Given the description of an element on the screen output the (x, y) to click on. 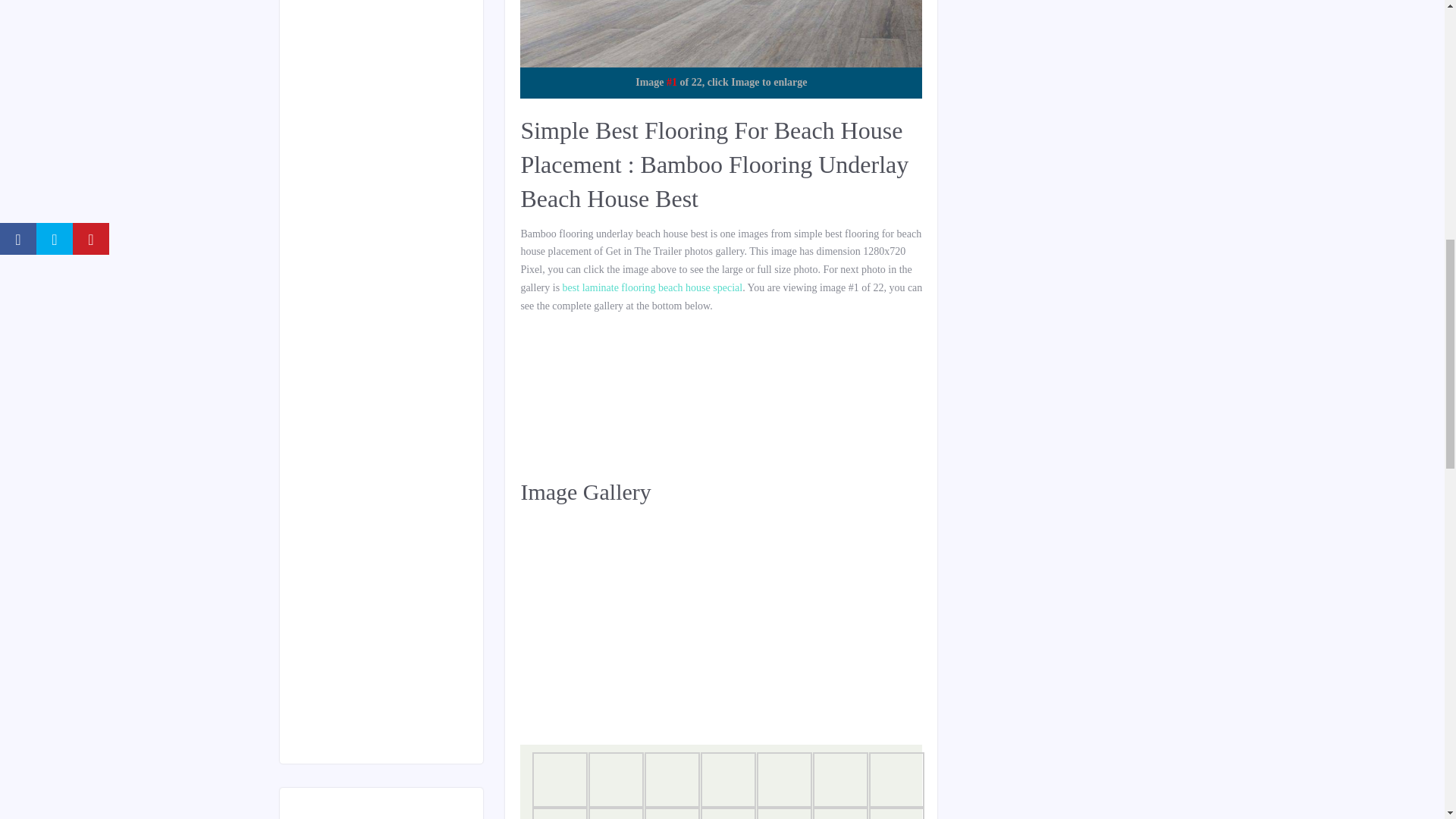
Advertisement (795, 399)
best laminate flooring beach house special (652, 287)
Advertisement (795, 622)
